Given the description of an element on the screen output the (x, y) to click on. 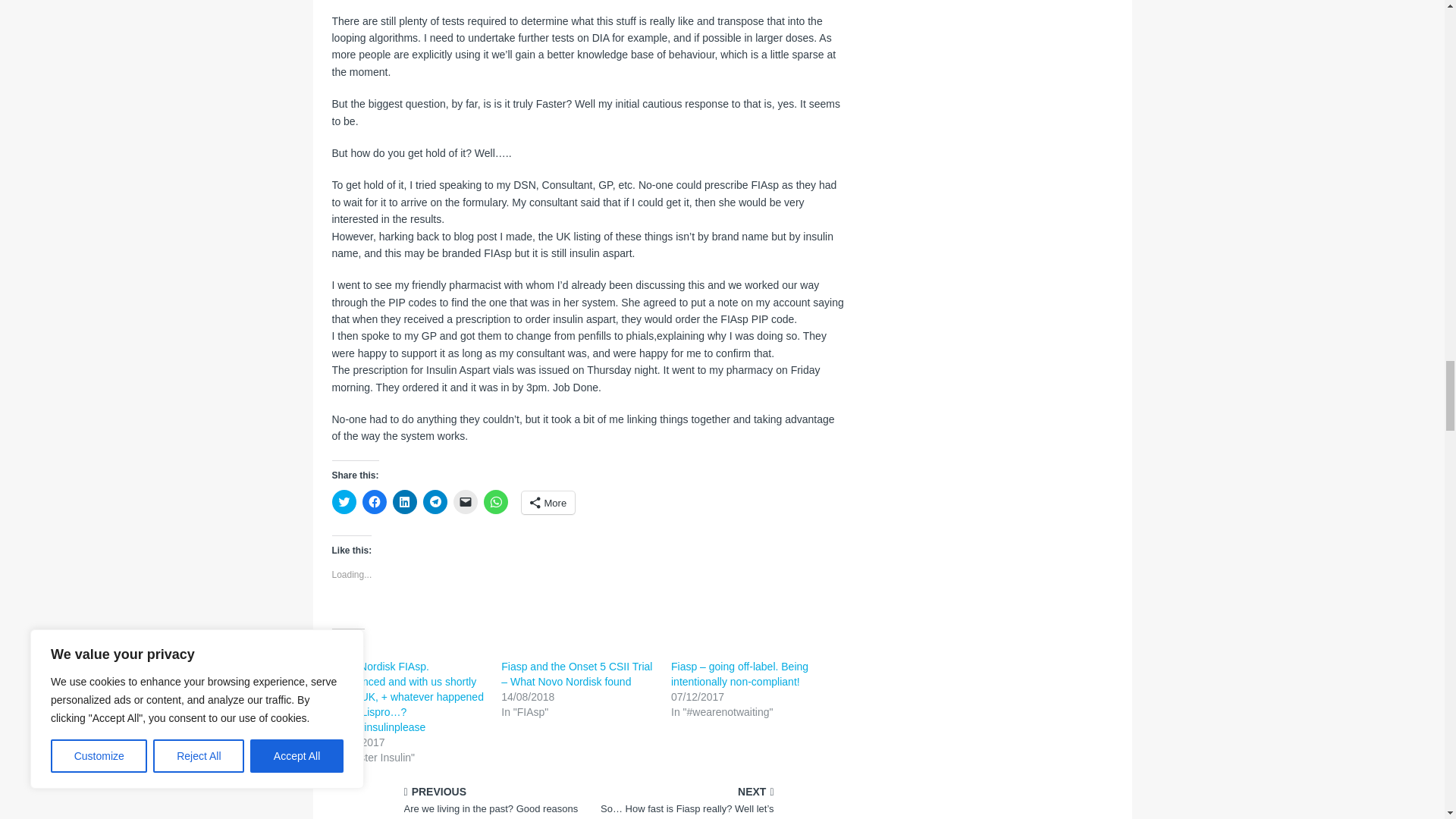
Click to share on Twitter (343, 501)
Click to share on Facebook (374, 501)
Click to share on Telegram (434, 501)
Click to email a link to a friend (464, 501)
Click to share on WhatsApp (495, 501)
Click to share on LinkedIn (404, 501)
